Given the description of an element on the screen output the (x, y) to click on. 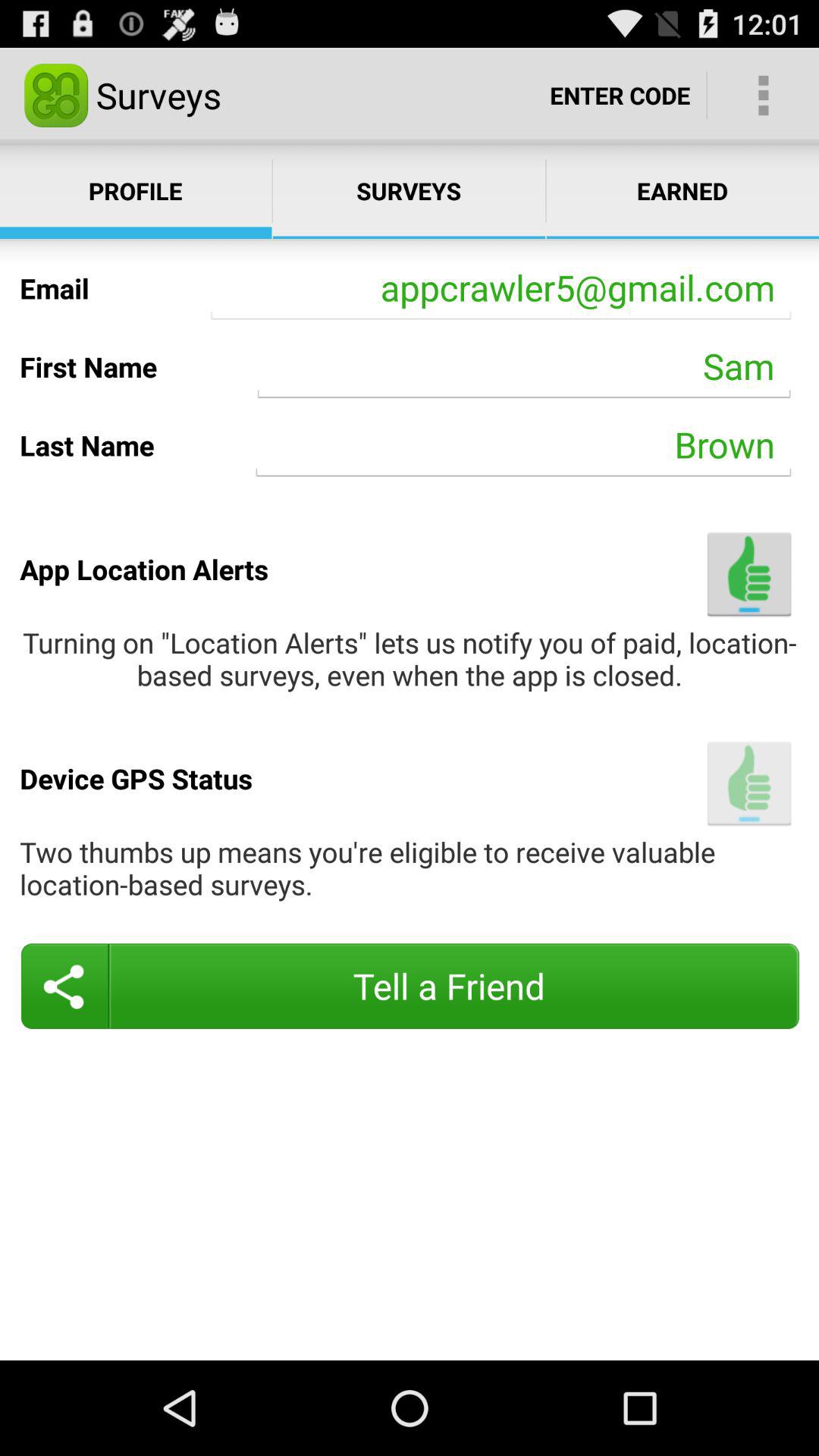
accept location services (749, 783)
